Given the description of an element on the screen output the (x, y) to click on. 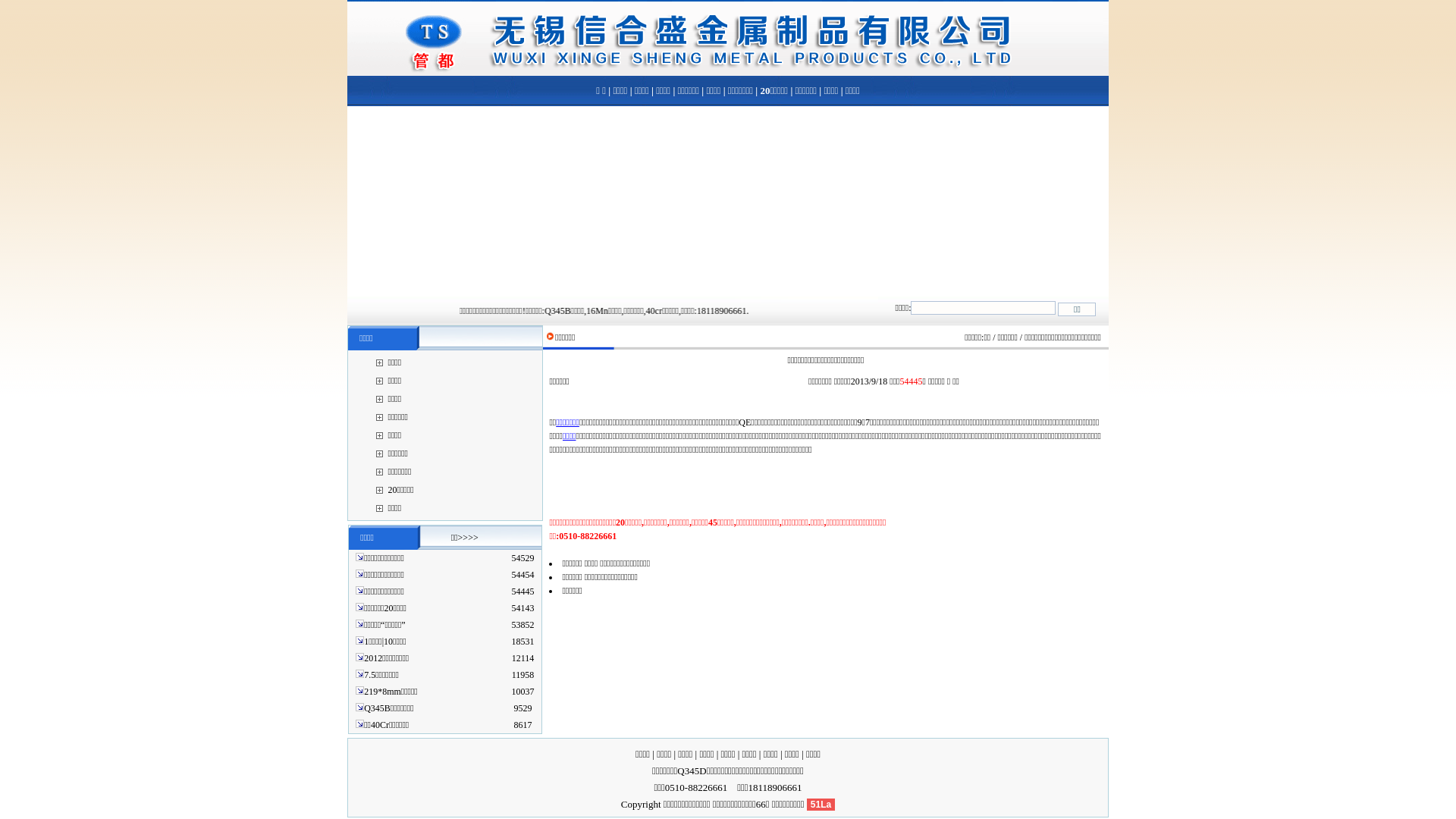
51La Element type: text (820, 803)
